Given the description of an element on the screen output the (x, y) to click on. 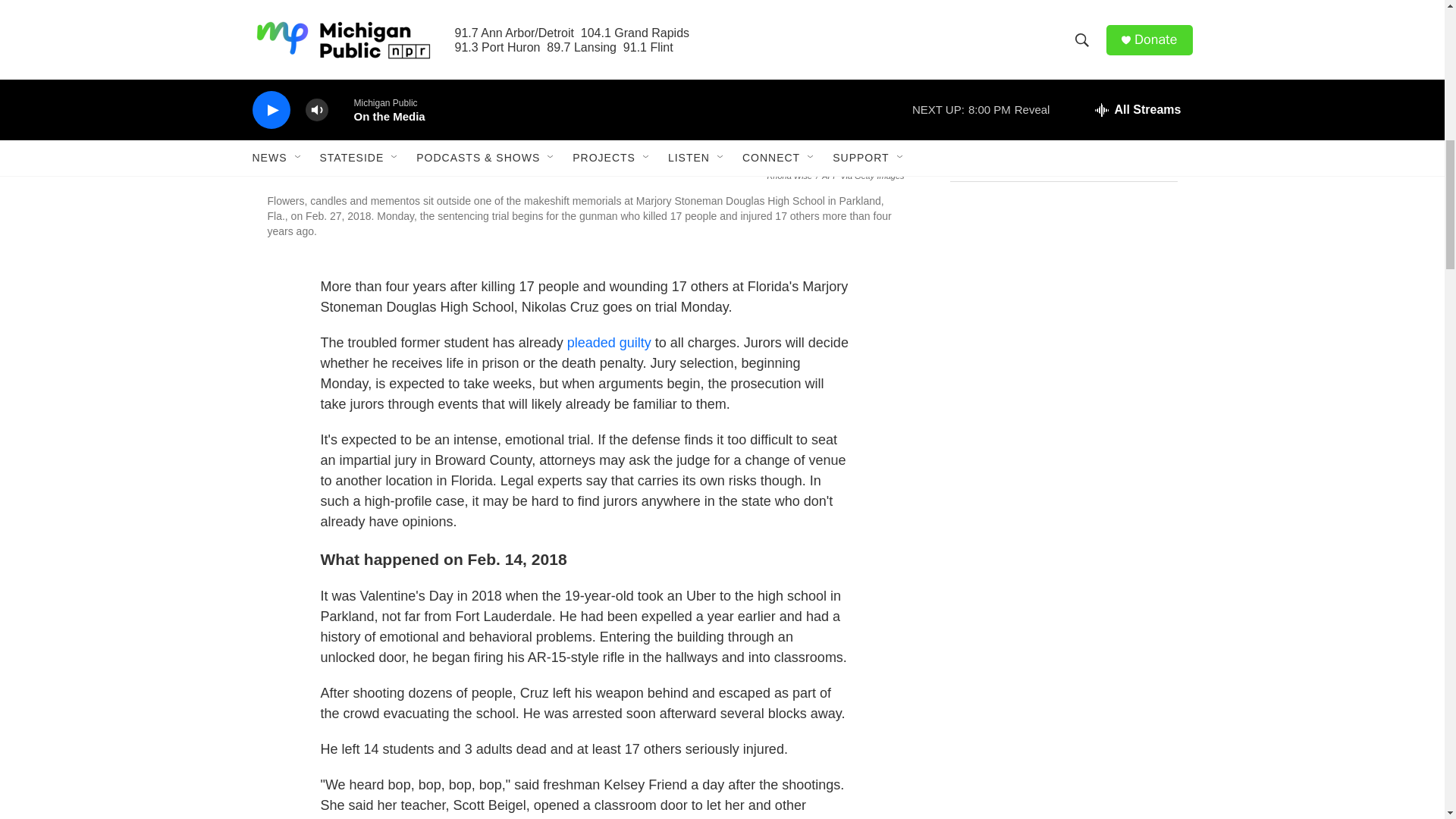
3rd party ad content (1062, 307)
3rd party ad content (1062, 526)
